Given the description of an element on the screen output the (x, y) to click on. 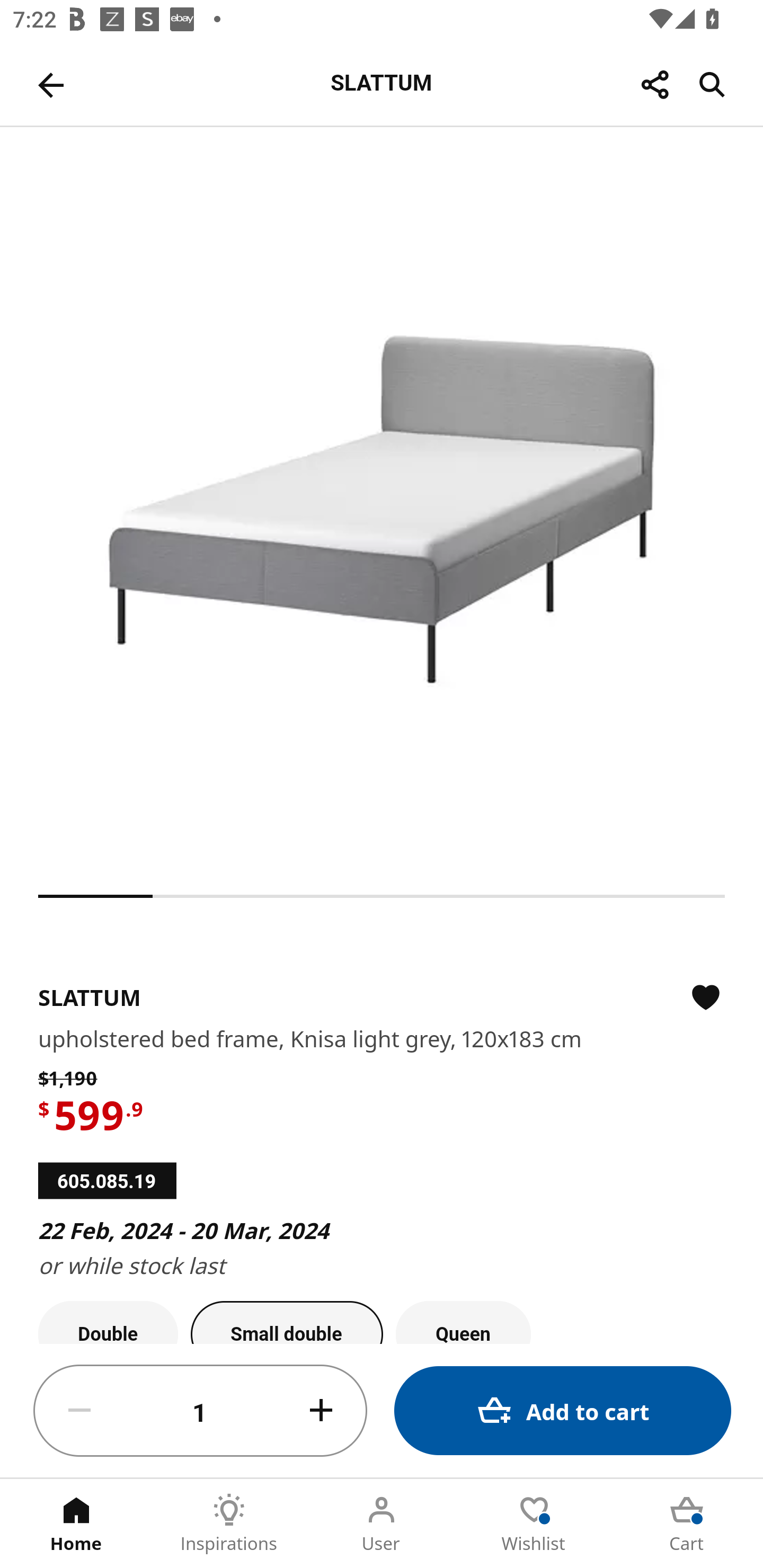
Double (107, 1322)
Small double (286, 1322)
Queen (463, 1322)
Add to cart (562, 1410)
1 (200, 1411)
Home
Tab 1 of 5 (76, 1522)
Inspirations
Tab 2 of 5 (228, 1522)
User
Tab 3 of 5 (381, 1522)
Wishlist
Tab 4 of 5 (533, 1522)
Cart
Tab 5 of 5 (686, 1522)
